Given the description of an element on the screen output the (x, y) to click on. 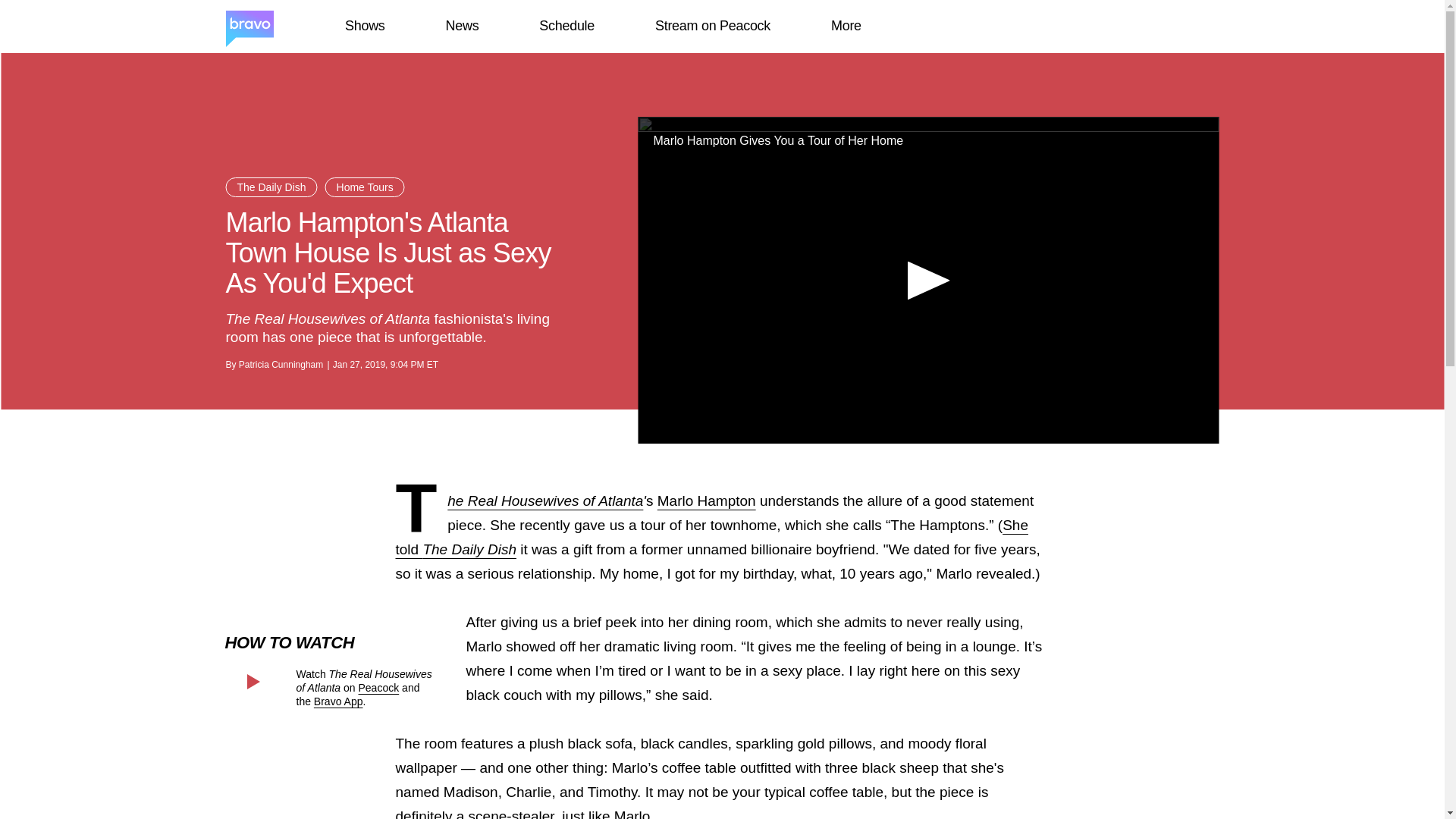
Stream on Peacock (712, 26)
Bravo App (338, 701)
Marlo Hampton (706, 500)
Patricia Cunningham (280, 364)
Home Tours (364, 187)
Schedule (566, 26)
The Real Housewives of Atlanta (544, 500)
News (462, 26)
Home (249, 26)
